Given the description of an element on the screen output the (x, y) to click on. 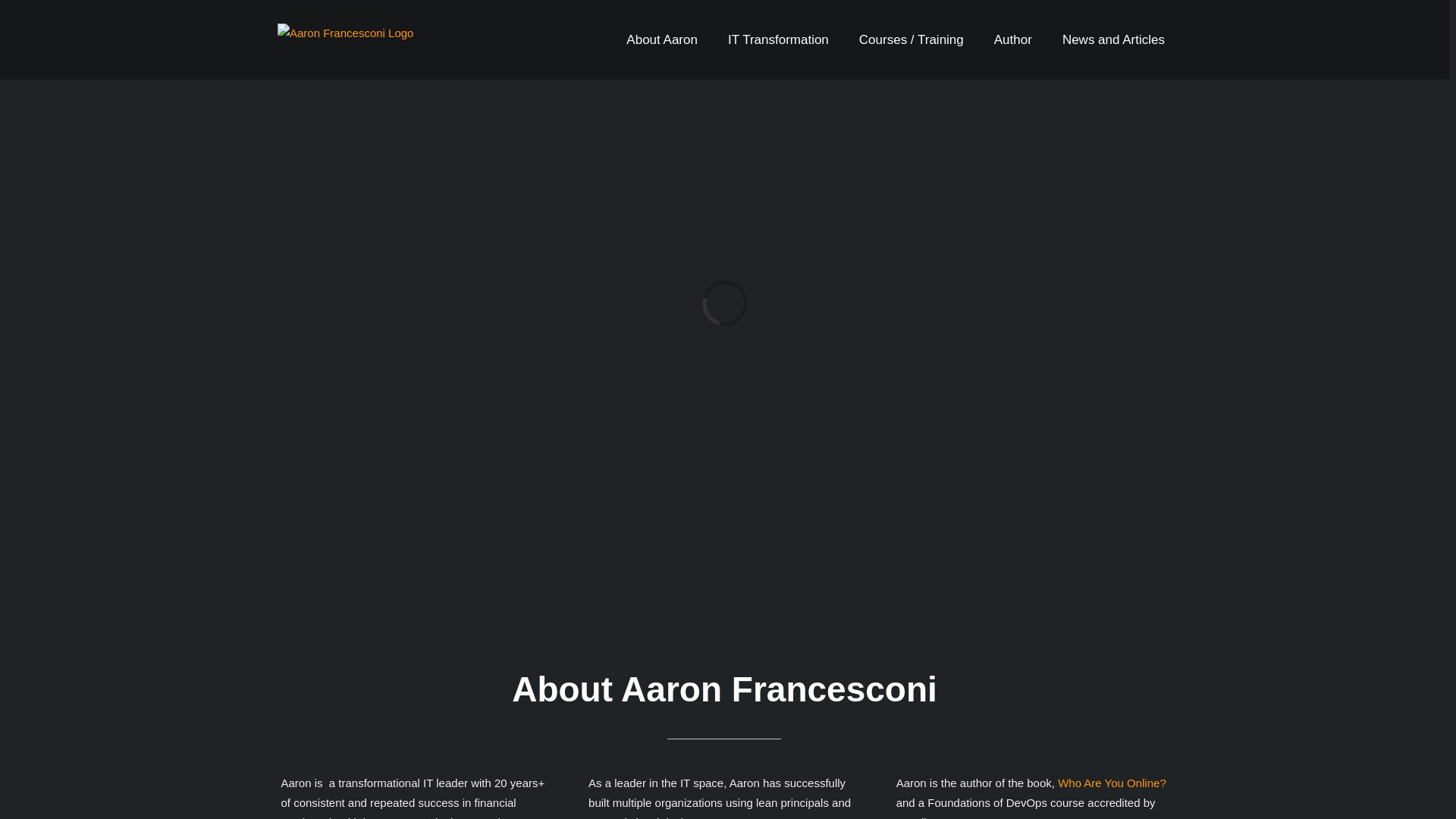
IT Transformation (778, 39)
About Aaron (661, 39)
News and Articles (1113, 39)
Who Are You Online? (1112, 782)
